Given the description of an element on the screen output the (x, y) to click on. 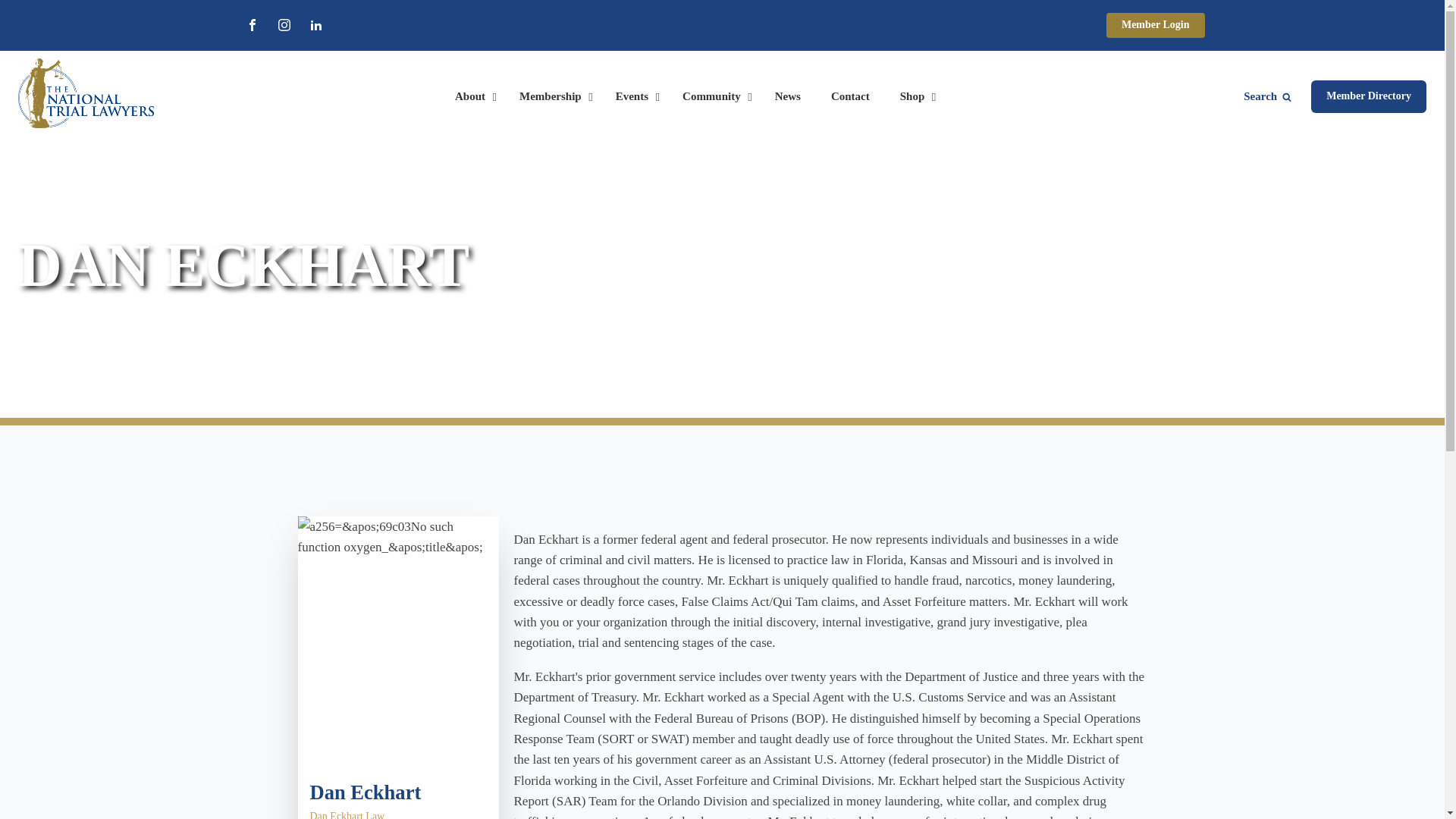
Membership (551, 96)
Member Login (1155, 25)
About (471, 96)
